Given the description of an element on the screen output the (x, y) to click on. 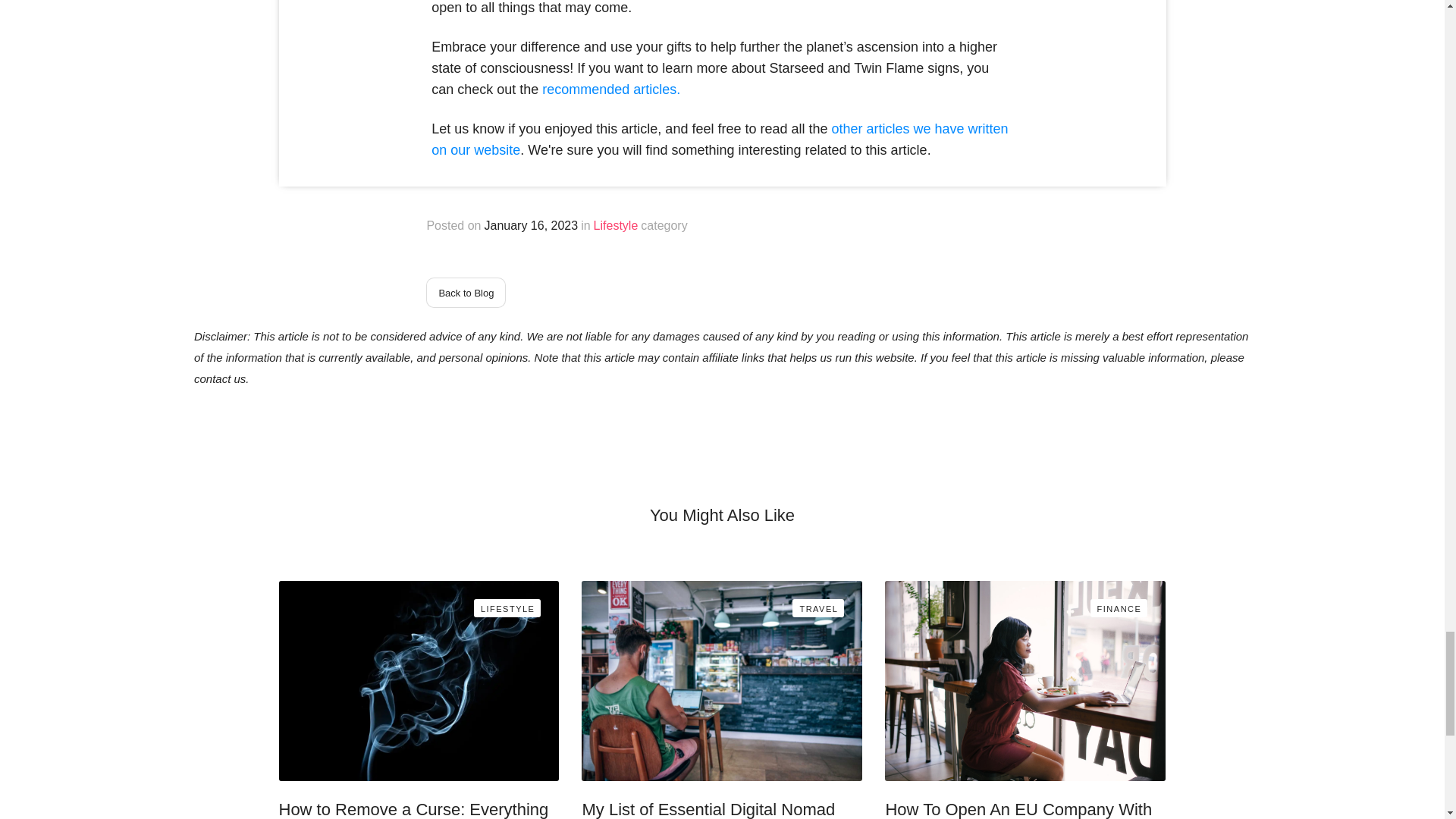
TRAVEL (818, 607)
recommended articles. (610, 89)
How to Remove a Curse: Everything you need to know (419, 806)
Lifestyle (616, 226)
My List of Essential Digital Nomad Gear for 2024 (720, 806)
LIFESTYLE (507, 607)
other articles we have written on our website (718, 139)
FINANCE (1119, 607)
Back to Blog (465, 292)
